Given the description of an element on the screen output the (x, y) to click on. 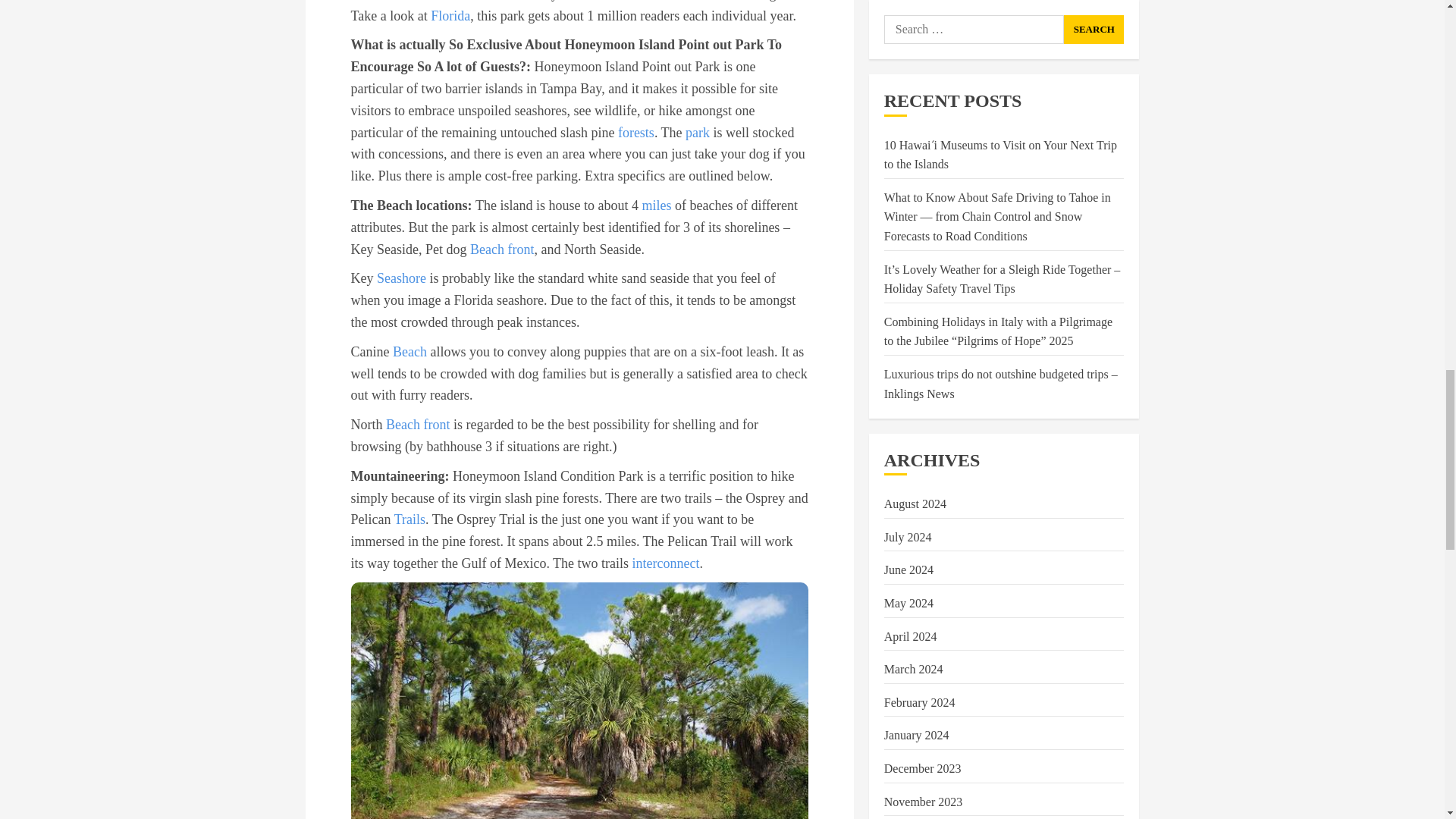
interconnect (665, 563)
park (697, 132)
Seashore (401, 278)
Beach front (502, 249)
miles (656, 205)
Beach front (417, 424)
Park (699, 0)
Florida (450, 15)
Beach (409, 351)
Trails (409, 519)
forests (635, 132)
